Given the description of an element on the screen output the (x, y) to click on. 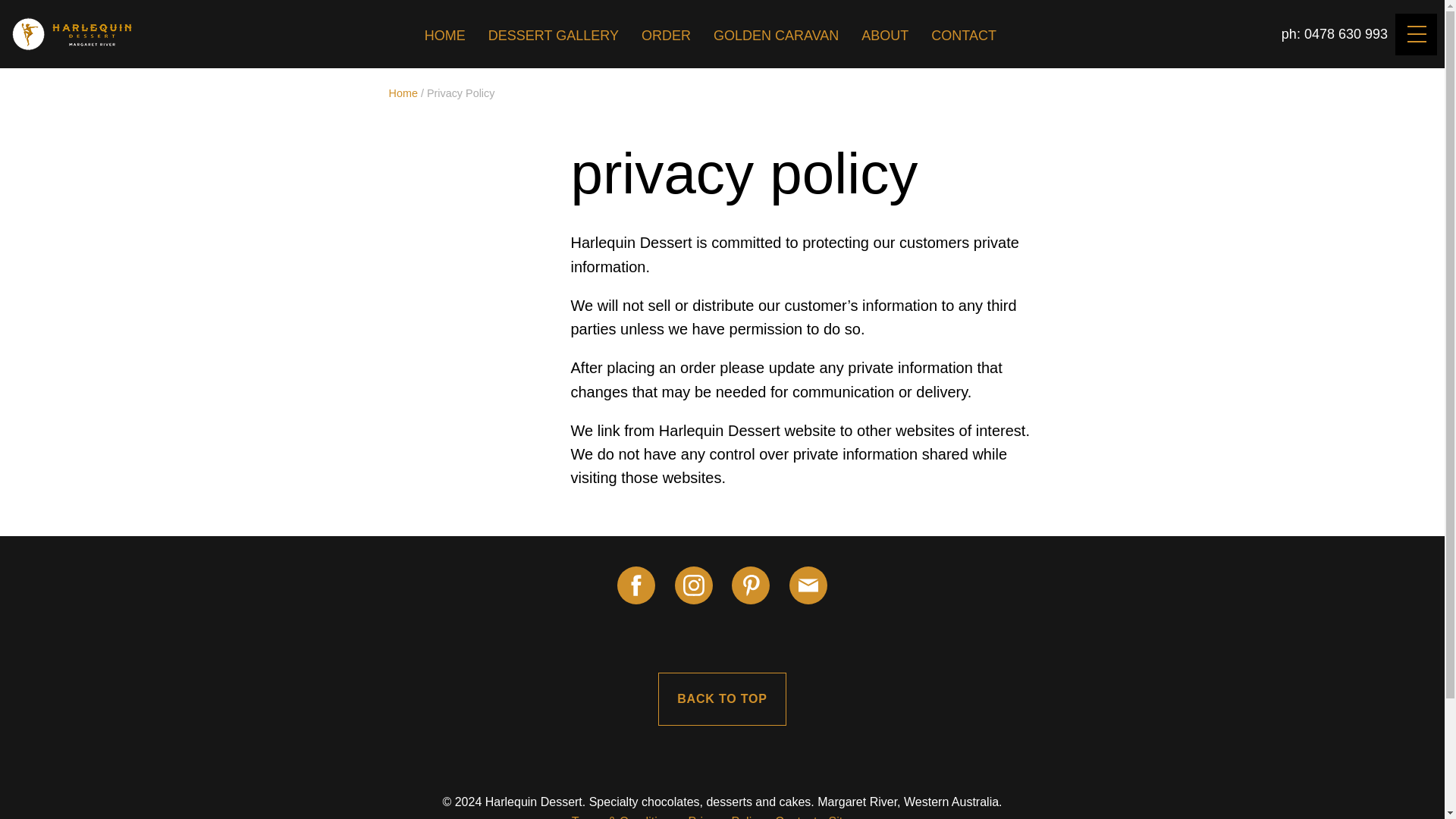
ORDER (665, 35)
Home (402, 92)
Menu (1415, 34)
Privacy Policy (726, 816)
ABOUT (884, 35)
HOME (444, 35)
DESSERT GALLERY (553, 35)
Go to Harlequin Dessert. (402, 92)
CONTACT (963, 35)
Facebook (636, 585)
Sitemap (850, 816)
Instagram (694, 585)
Email (808, 585)
Pinterest (751, 585)
GOLDEN CARAVAN (776, 35)
